Given the description of an element on the screen output the (x, y) to click on. 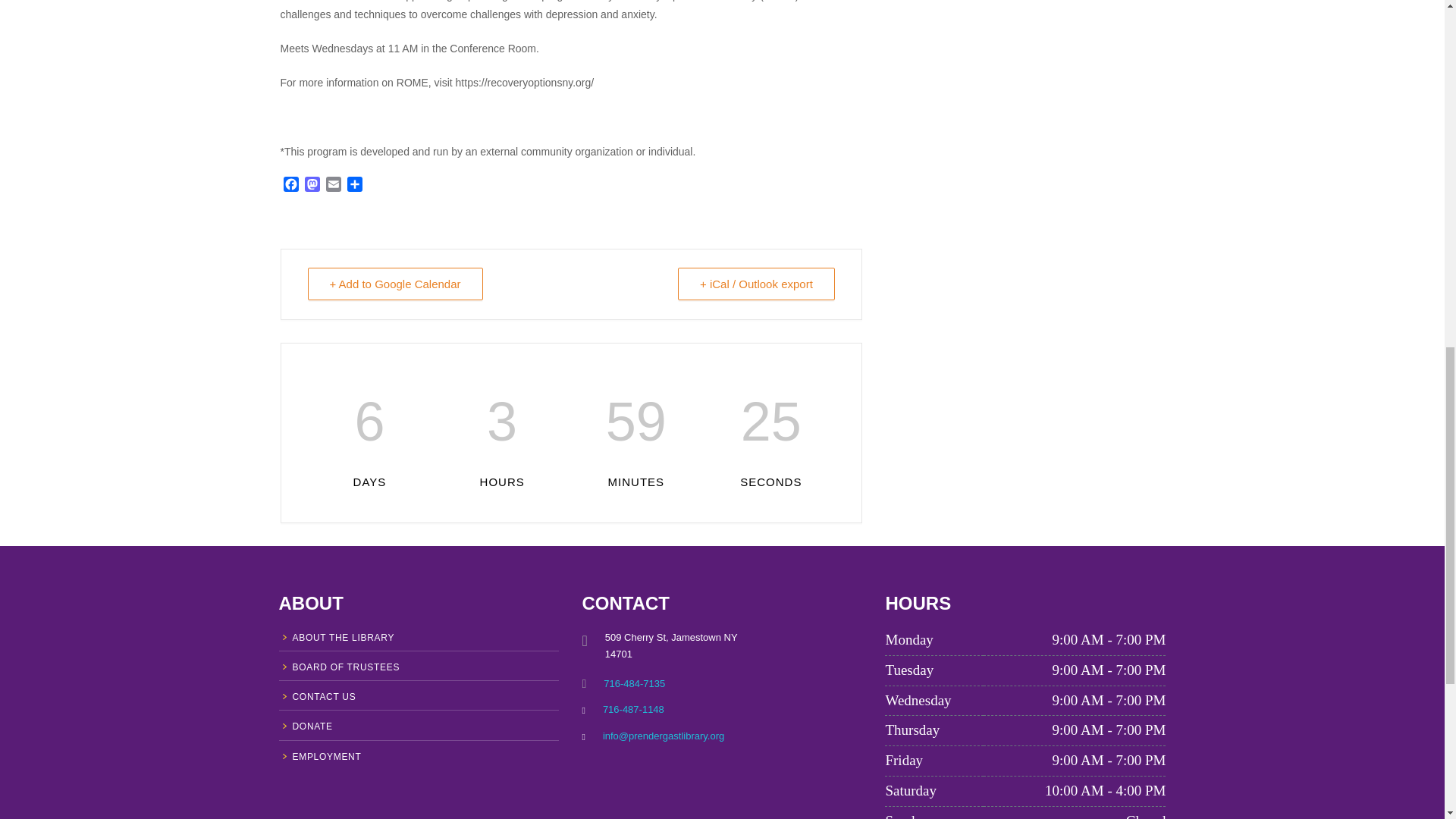
Facebook (291, 185)
Mastodon (312, 185)
Email (333, 185)
